Given the description of an element on the screen output the (x, y) to click on. 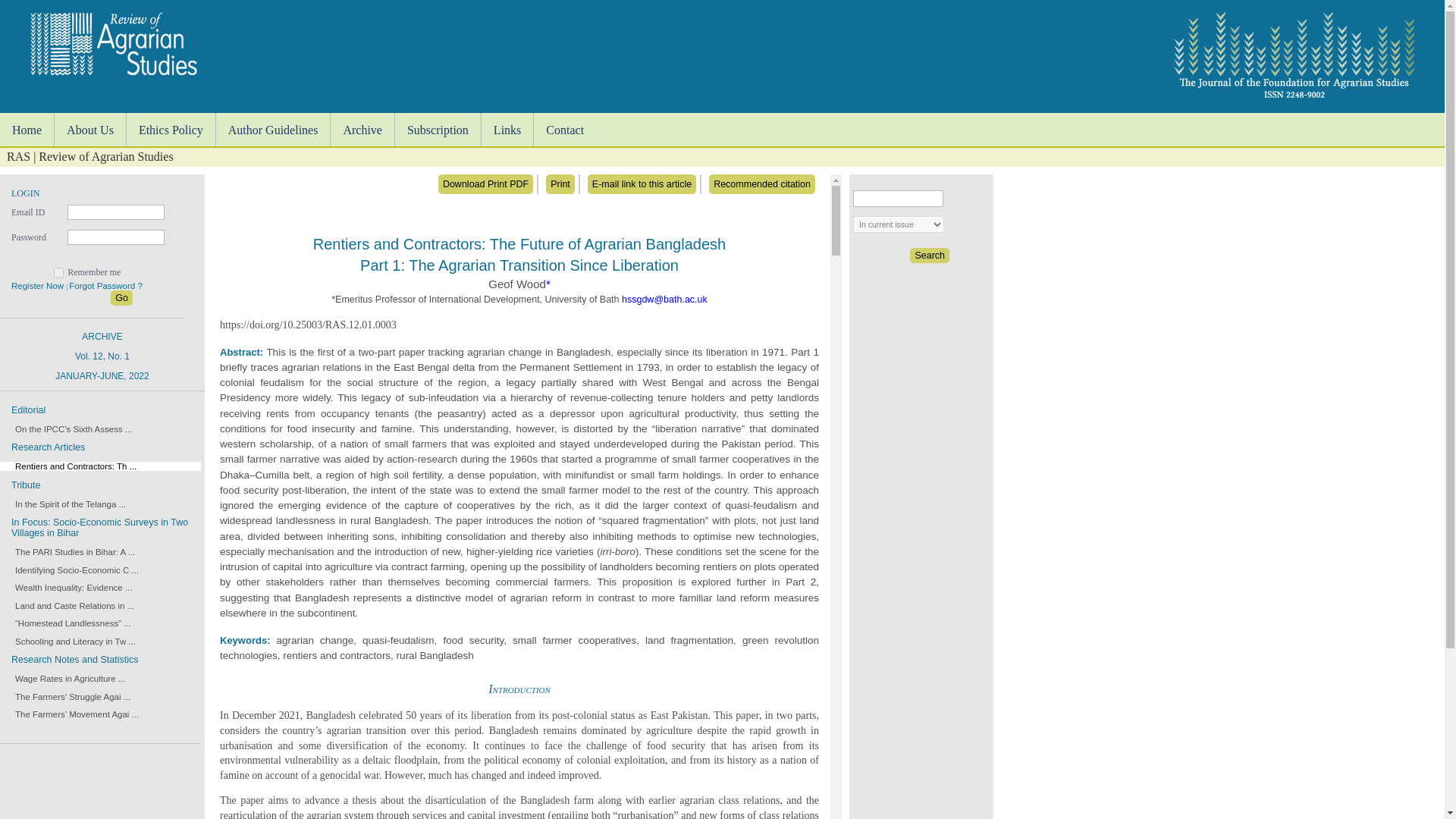
Contact (71, 641)
Wealth Inequality: Evidence ... (66, 678)
E-mail link to this article (564, 130)
Forgot Password ? (69, 587)
Identifying Socio-Economic C ... (641, 184)
Go (105, 285)
The PARI Studies in Bihar: A ... (72, 569)
Download Print PDF (121, 297)
Home (71, 551)
Ethics Policy (485, 184)
Rentiers and Contractors: Th ... (26, 130)
